Given the description of an element on the screen output the (x, y) to click on. 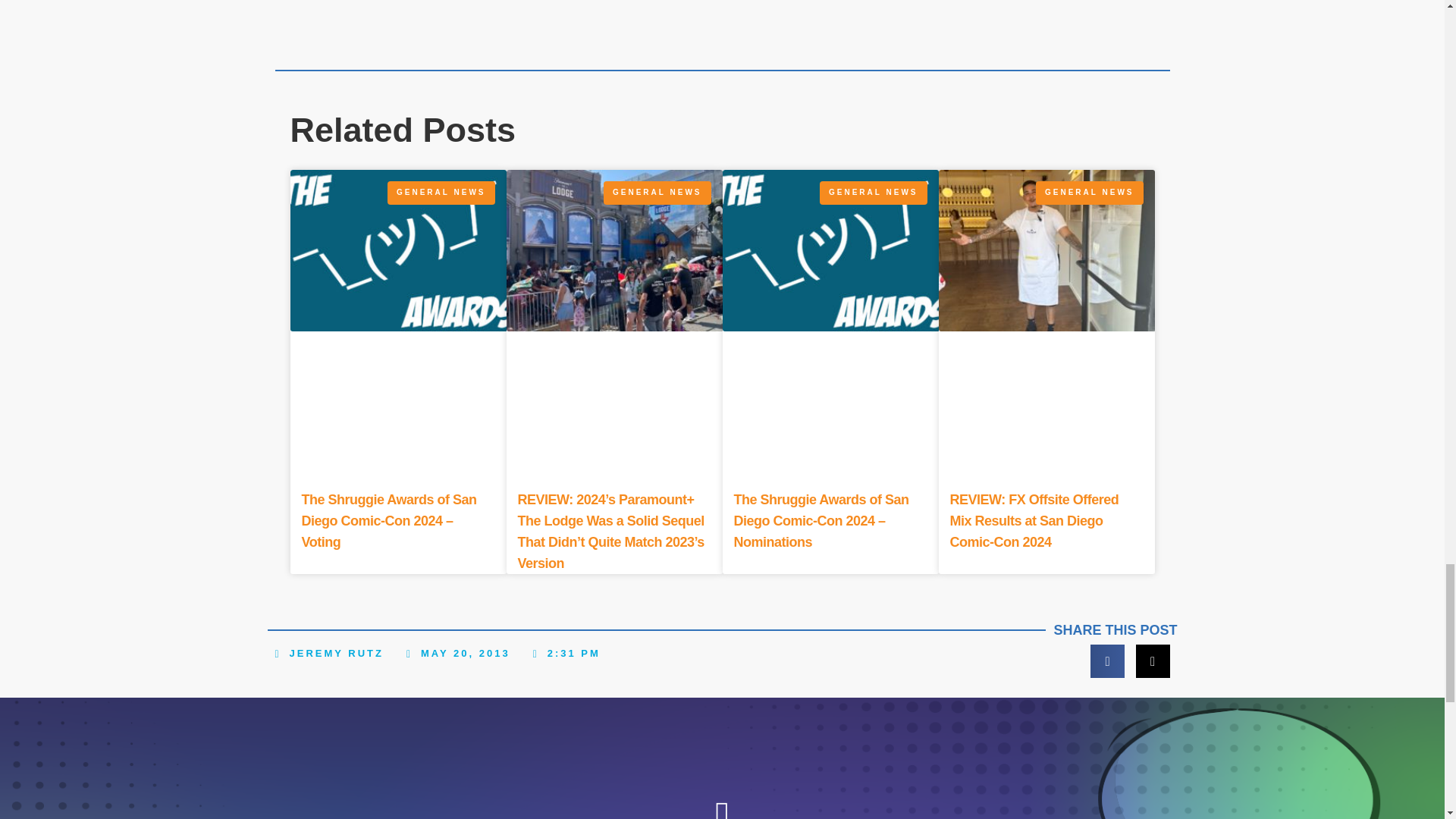
Advertisement (722, 21)
